Given the description of an element on the screen output the (x, y) to click on. 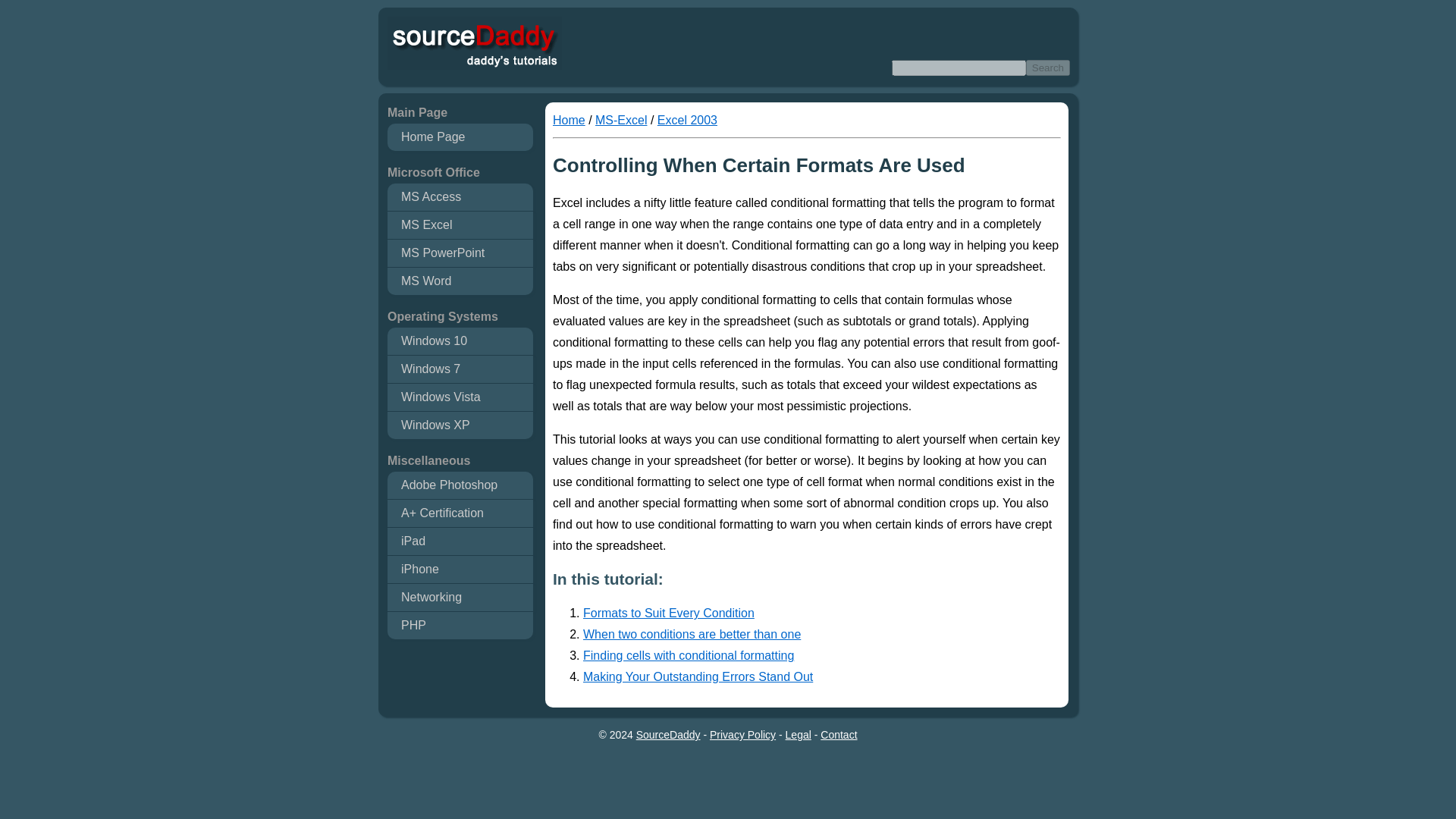
Making Your Outstanding Errors Stand Out (822, 676)
iPhone (459, 569)
When two conditions are better than one (822, 634)
Windows XP (459, 424)
Excel 2003 (687, 119)
Home Page (459, 136)
Networking (459, 596)
Windows Vista (459, 397)
Home Page (569, 119)
iPad (459, 541)
